Given the description of an element on the screen output the (x, y) to click on. 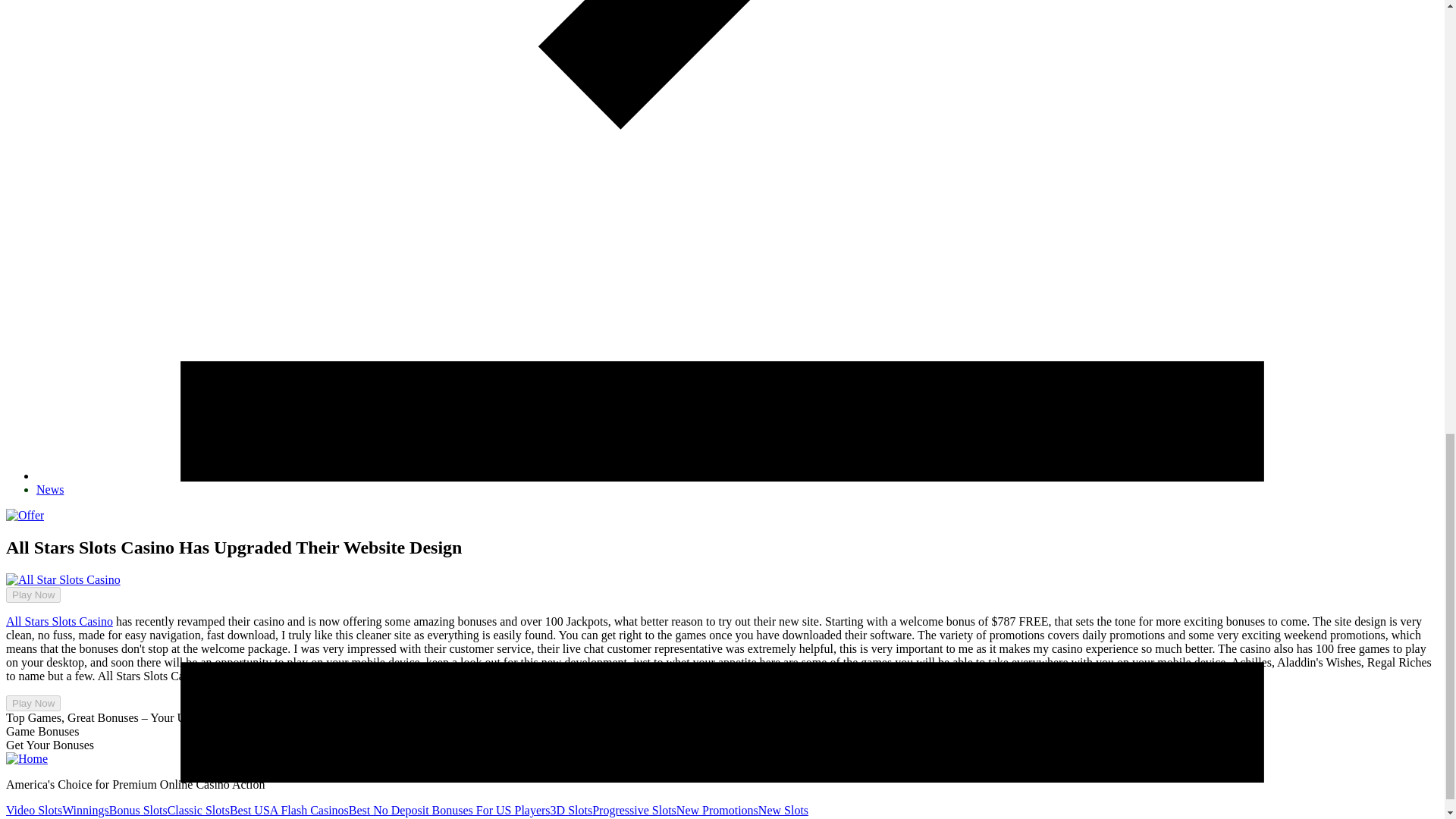
News (50, 489)
New Promotions (717, 809)
All Stars Slots Casino (59, 621)
Video Slots (33, 809)
Bonus Slots (138, 809)
Best USA Flash Casinos (289, 809)
Play Now (27, 589)
Winnings (85, 809)
3D Slots (571, 809)
Play Now (33, 594)
